Given the description of an element on the screen output the (x, y) to click on. 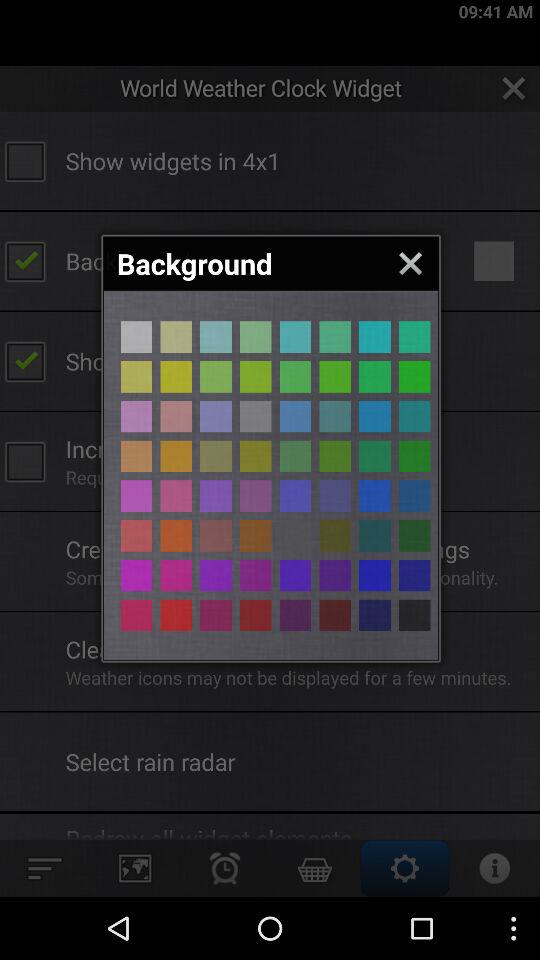
coloring page (215, 495)
